Given the description of an element on the screen output the (x, y) to click on. 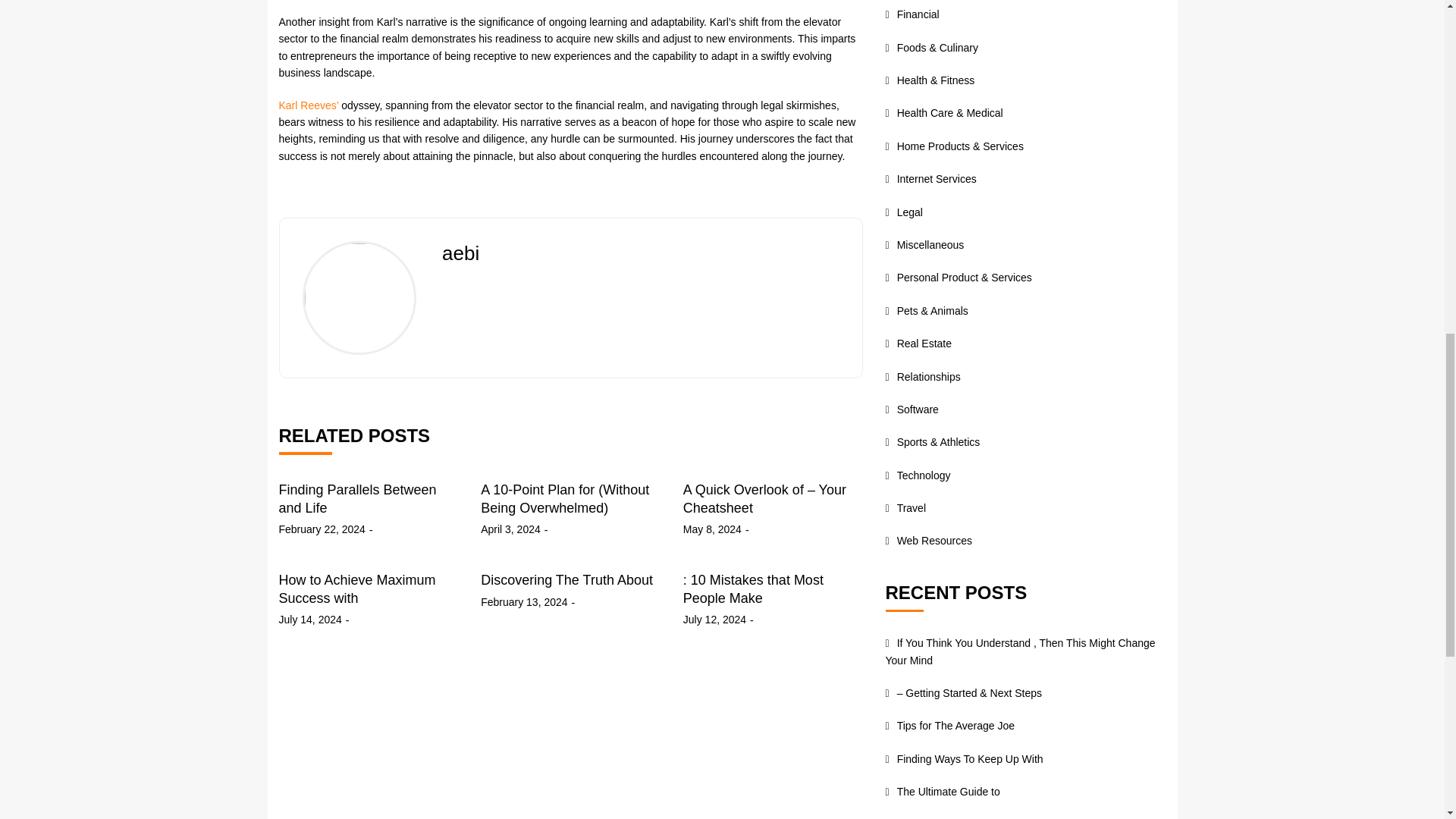
May 8, 2024 (711, 528)
Discovering The Truth About (566, 580)
February 22, 2024 (322, 528)
: 10 Mistakes that Most People Make (753, 588)
February 13, 2024 (523, 601)
July 12, 2024 (713, 619)
How to Achieve Maximum Success with (357, 588)
July 14, 2024 (310, 619)
Finding Parallels Between and Life (357, 498)
April 3, 2024 (510, 528)
